Given the description of an element on the screen output the (x, y) to click on. 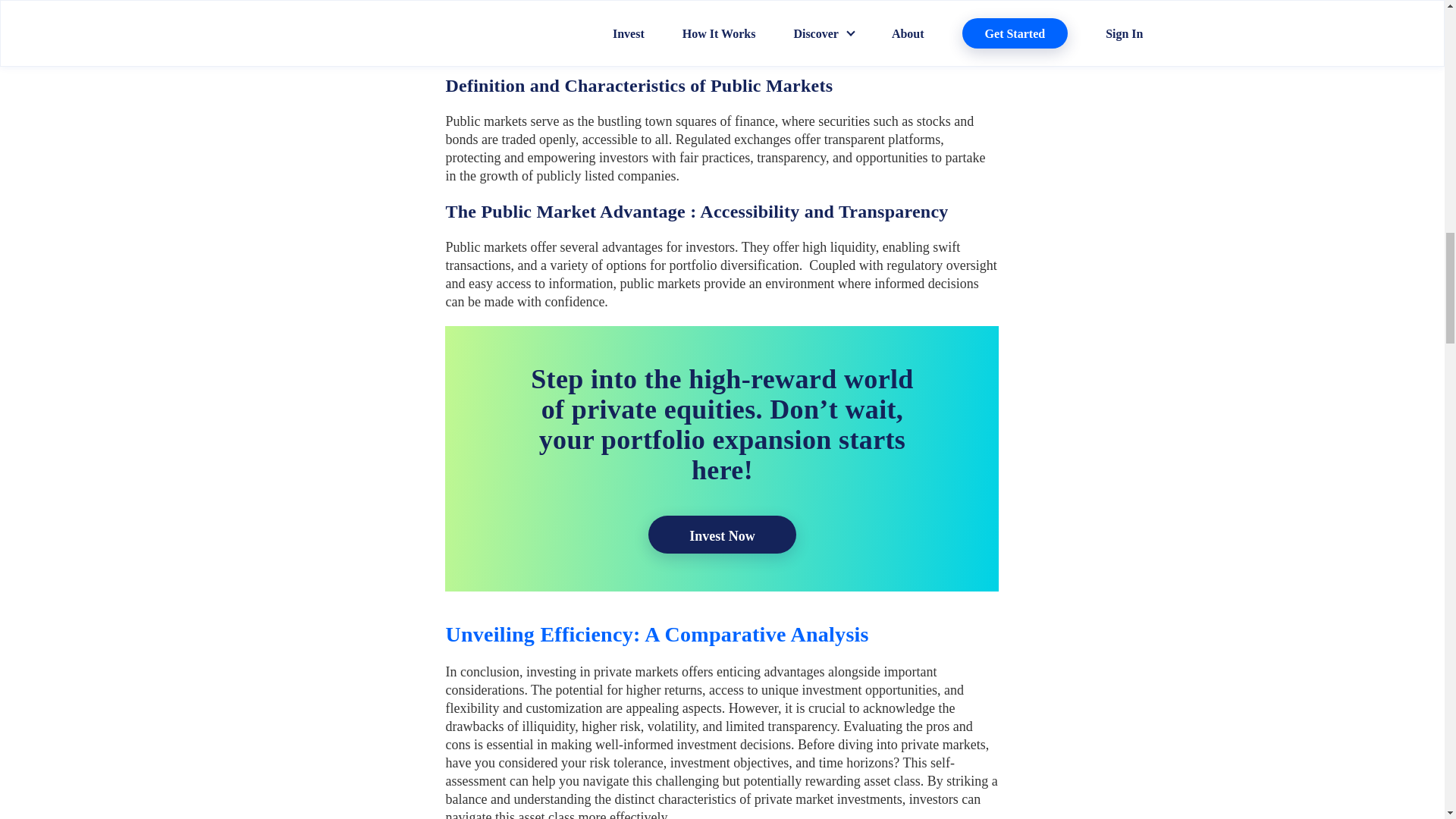
Invest Now (721, 534)
